Given the description of an element on the screen output the (x, y) to click on. 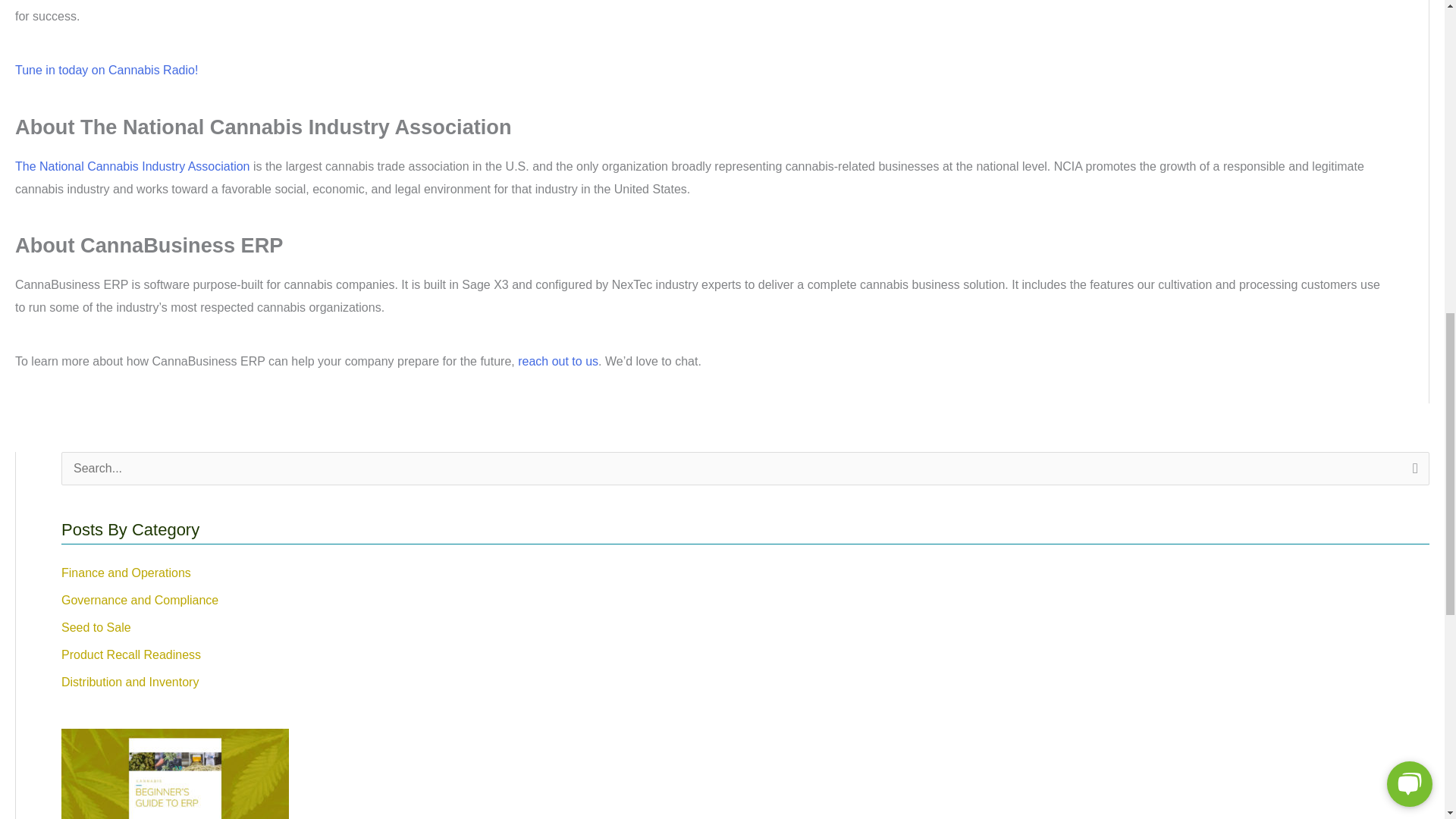
Distribution and Inventory (129, 681)
reach out to us (558, 360)
Governance and Compliance (139, 599)
Product Recall Readiness (130, 654)
The National Cannabis Industry Association (132, 165)
Finance and Operations (125, 572)
Seed to Sale (96, 626)
Tune in today on Cannabis Radio! (106, 69)
